Given the description of an element on the screen output the (x, y) to click on. 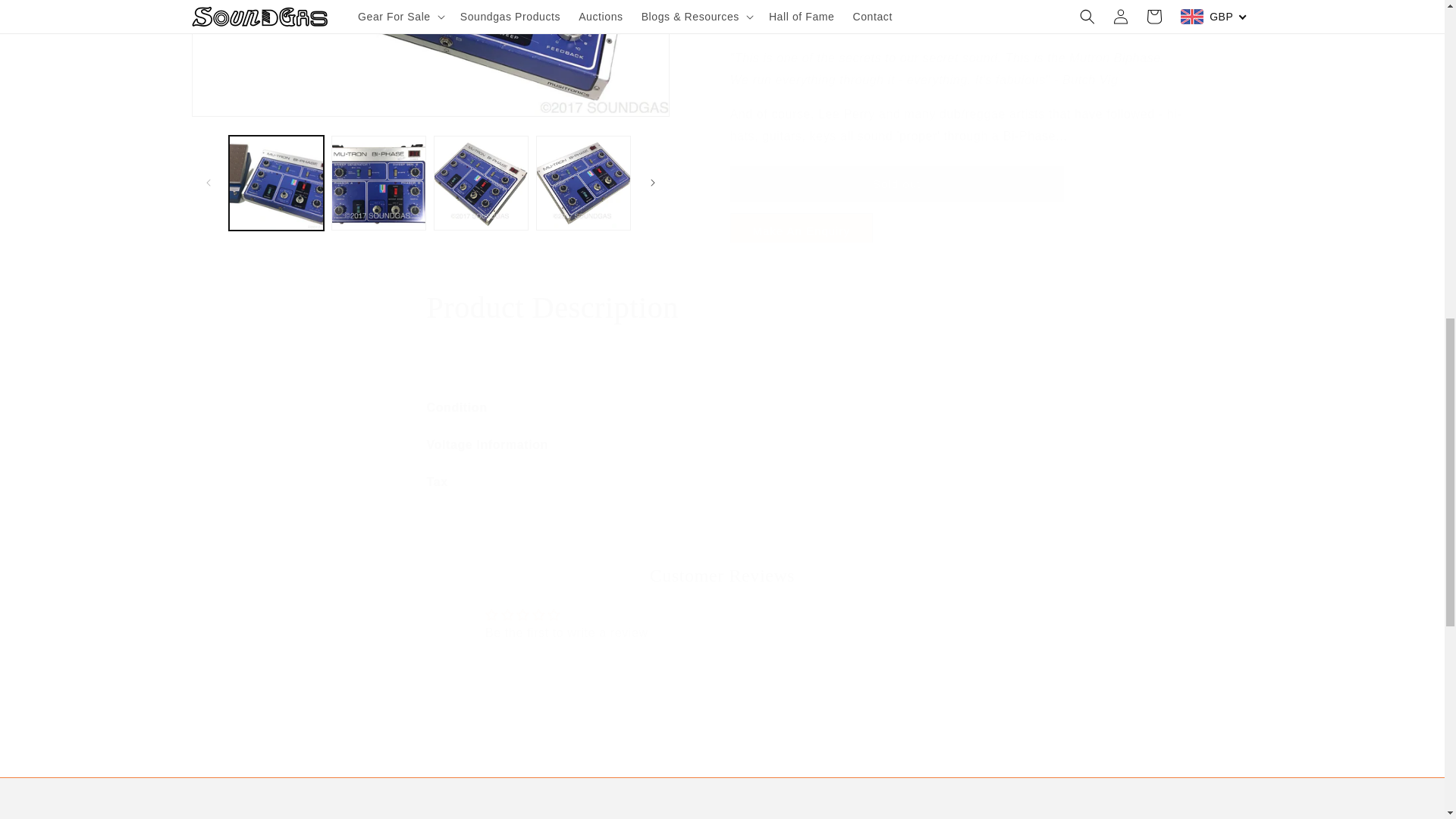
Condition (721, 408)
Tax (721, 307)
Voltage Information (721, 482)
